Given the description of an element on the screen output the (x, y) to click on. 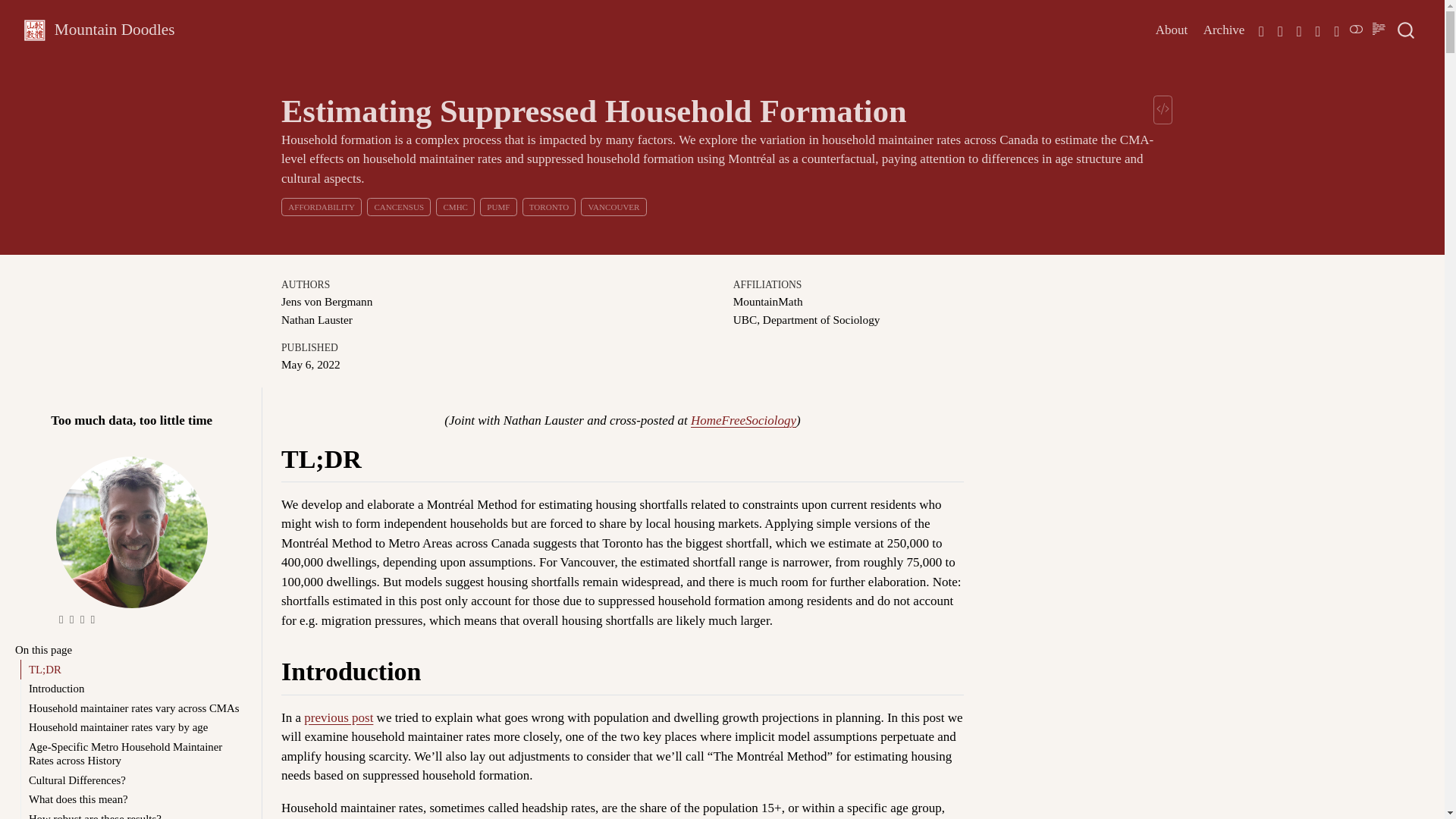
Household maintainer rates vary across CMAs (134, 707)
TORONTO (549, 205)
Cultural Differences? (134, 779)
CMHC (454, 205)
TL;DR (134, 669)
VANCOUVER (614, 205)
CANCENSUS (398, 205)
PUMF (497, 205)
Archive (1223, 29)
Household maintainer rates vary by age (134, 727)
